Given the description of an element on the screen output the (x, y) to click on. 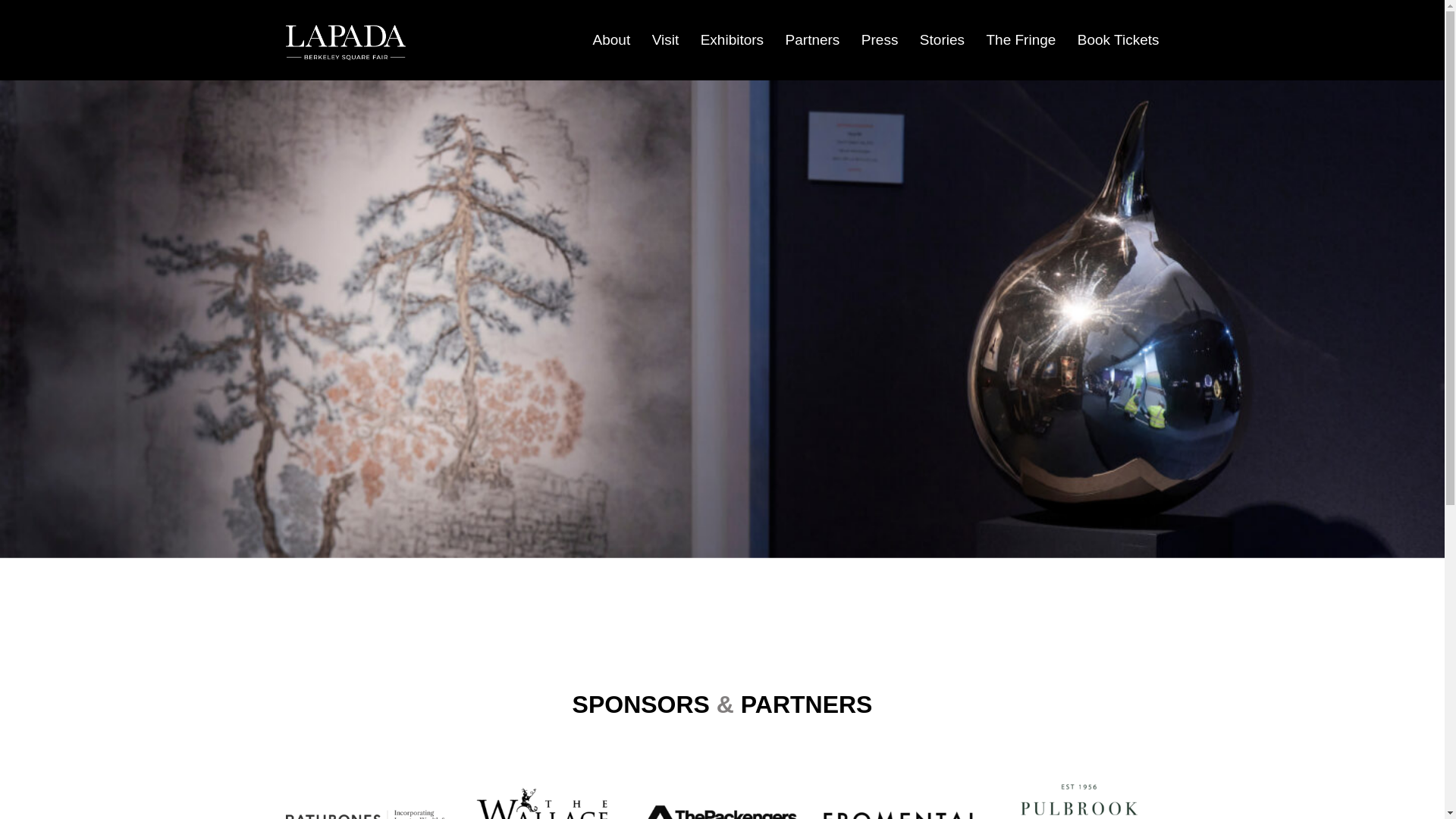
Stories (941, 40)
Book Tickets (1117, 40)
Visit (665, 40)
The Fringe (1020, 40)
Partners (813, 40)
Exhibitors (731, 40)
Press (879, 40)
About (611, 40)
